Given the description of an element on the screen output the (x, y) to click on. 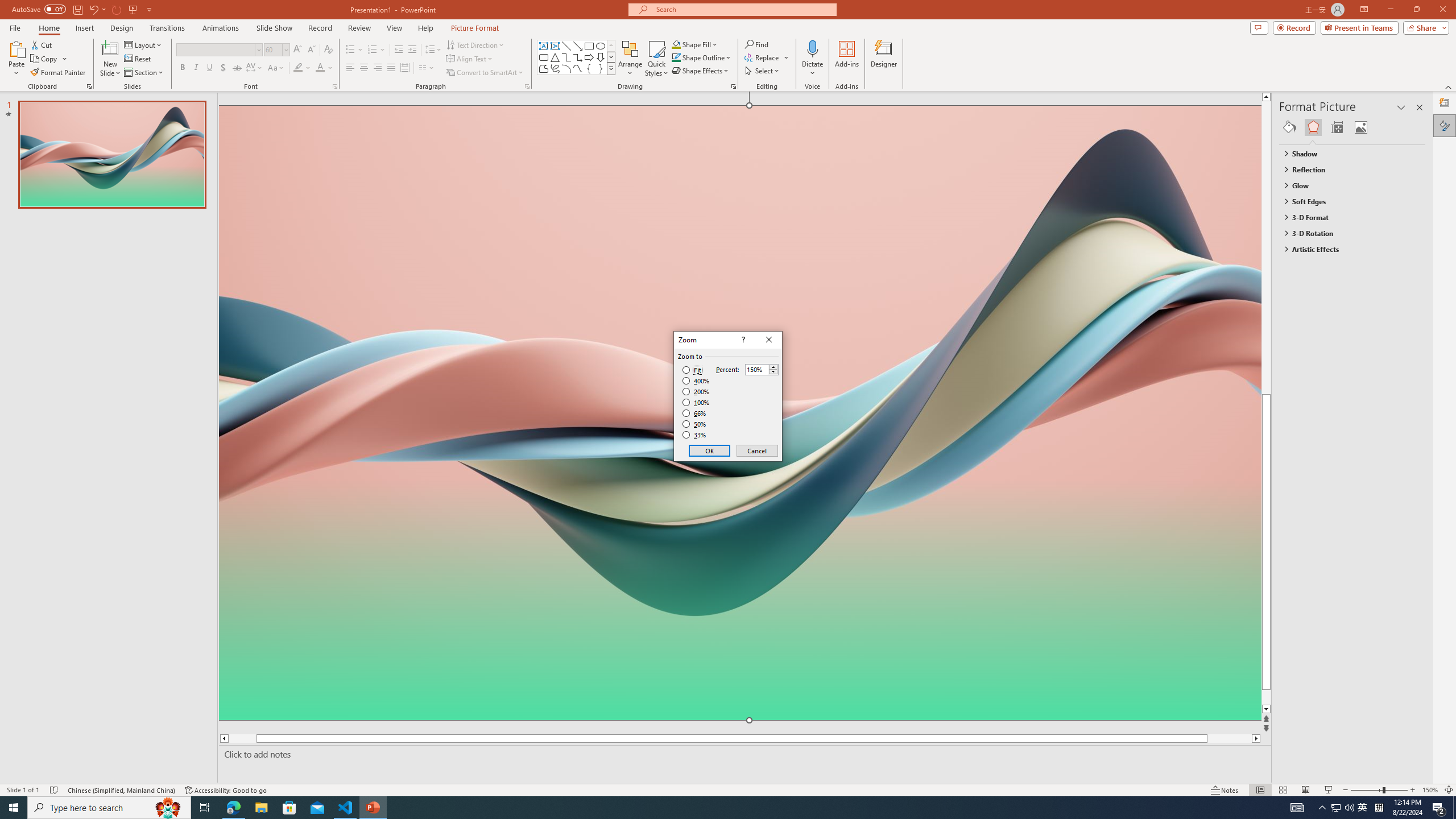
400% (696, 380)
